Given the description of an element on the screen output the (x, y) to click on. 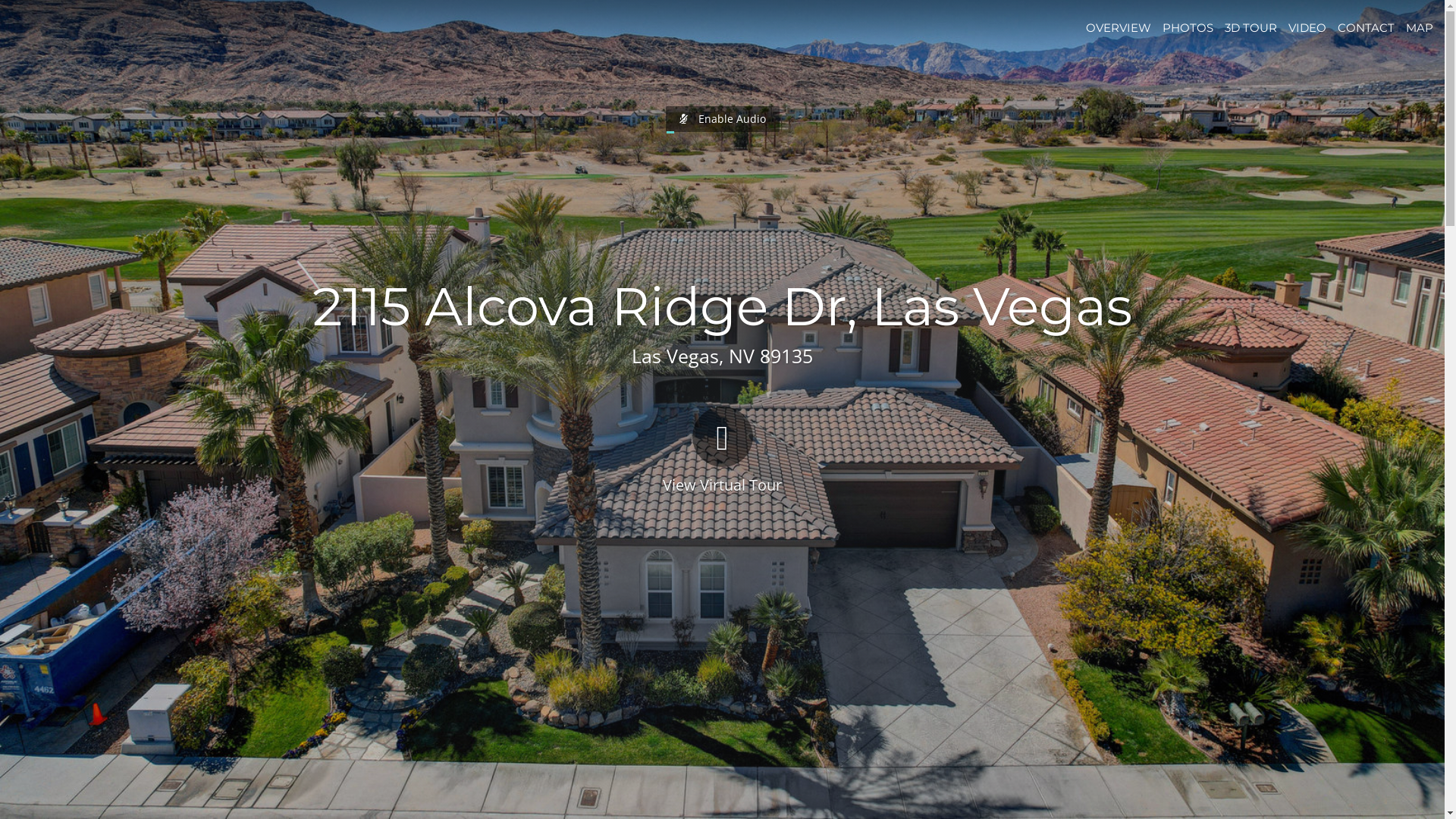
PHOTOS Element type: text (1187, 27)
View Virtual Tour Element type: text (722, 448)
OVERVIEW Element type: text (1118, 27)
3D TOUR Element type: text (1250, 27)
CONTACT Element type: text (1365, 27)
VIDEO Element type: text (1307, 27)
MAP Element type: text (1419, 27)
